Given the description of an element on the screen output the (x, y) to click on. 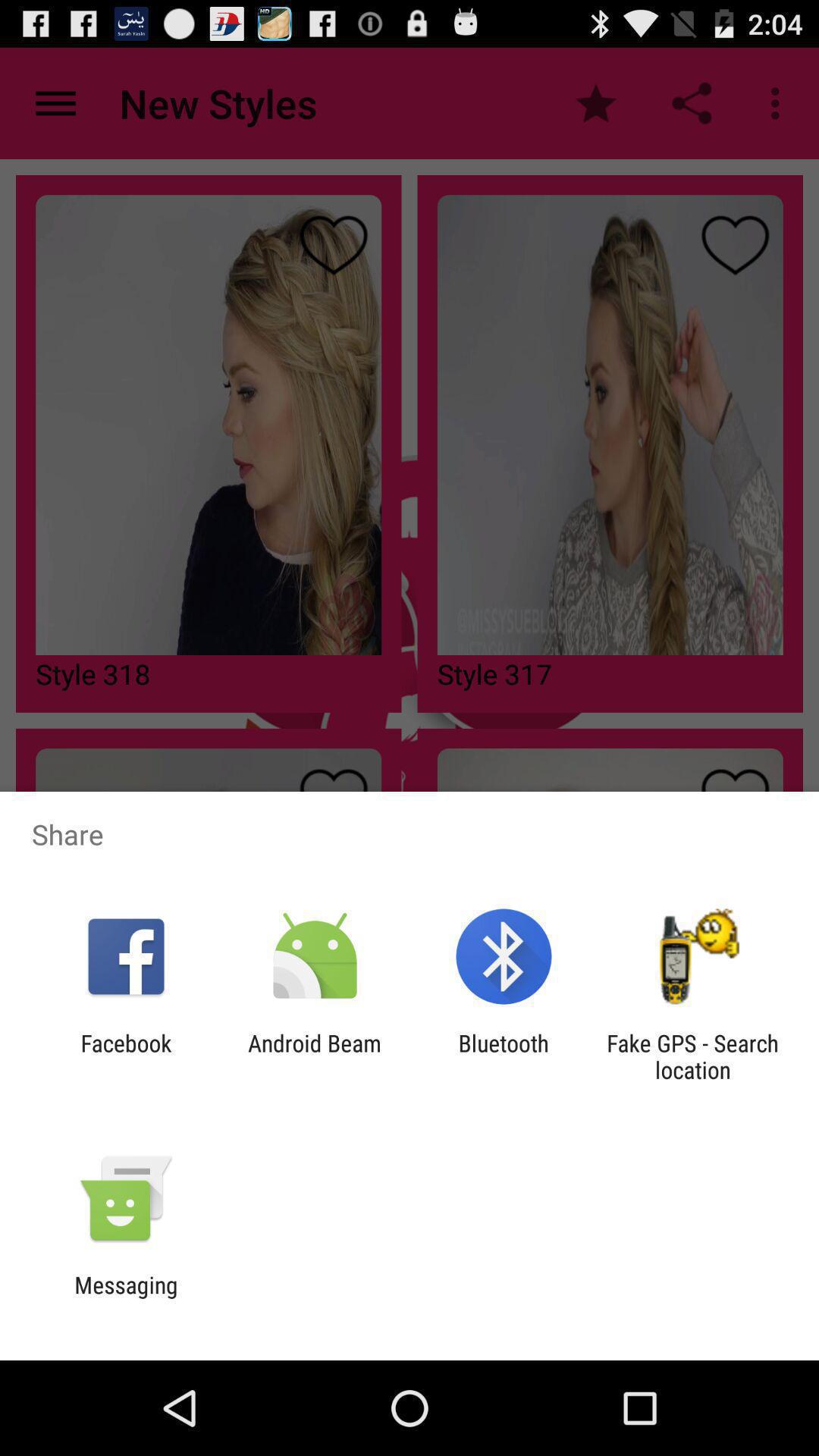
choose the app next to the bluetooth (692, 1056)
